Given the description of an element on the screen output the (x, y) to click on. 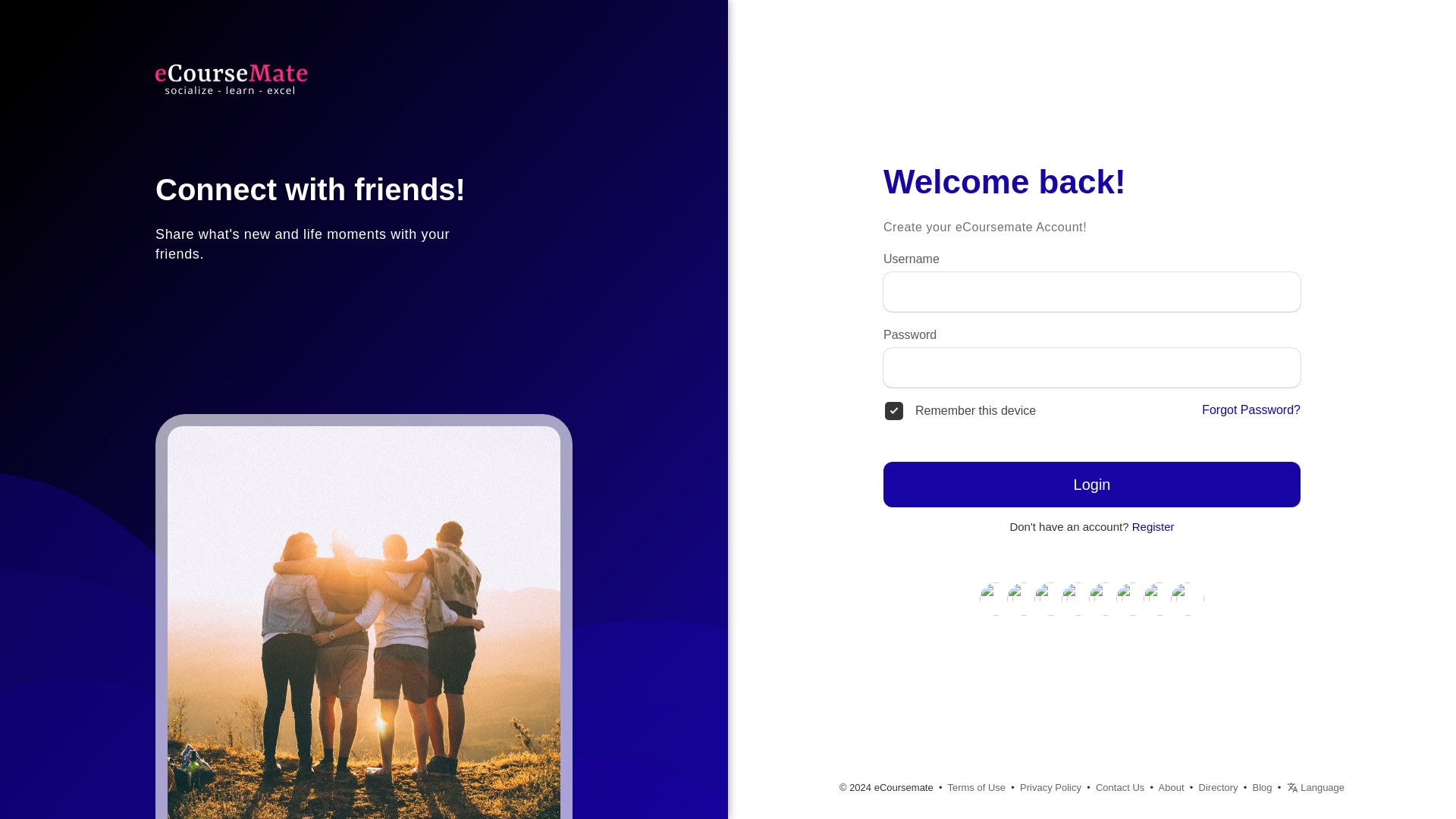
About (1171, 787)
Register (1153, 526)
Blog (1262, 787)
Contact Us (1120, 787)
Privacy Policy (1050, 787)
katherinalba35 (1050, 598)
Zineth Del Gador (1077, 598)
Adomaa (1105, 598)
Login (1091, 483)
fredhelmick930 (1133, 598)
